Given the description of an element on the screen output the (x, y) to click on. 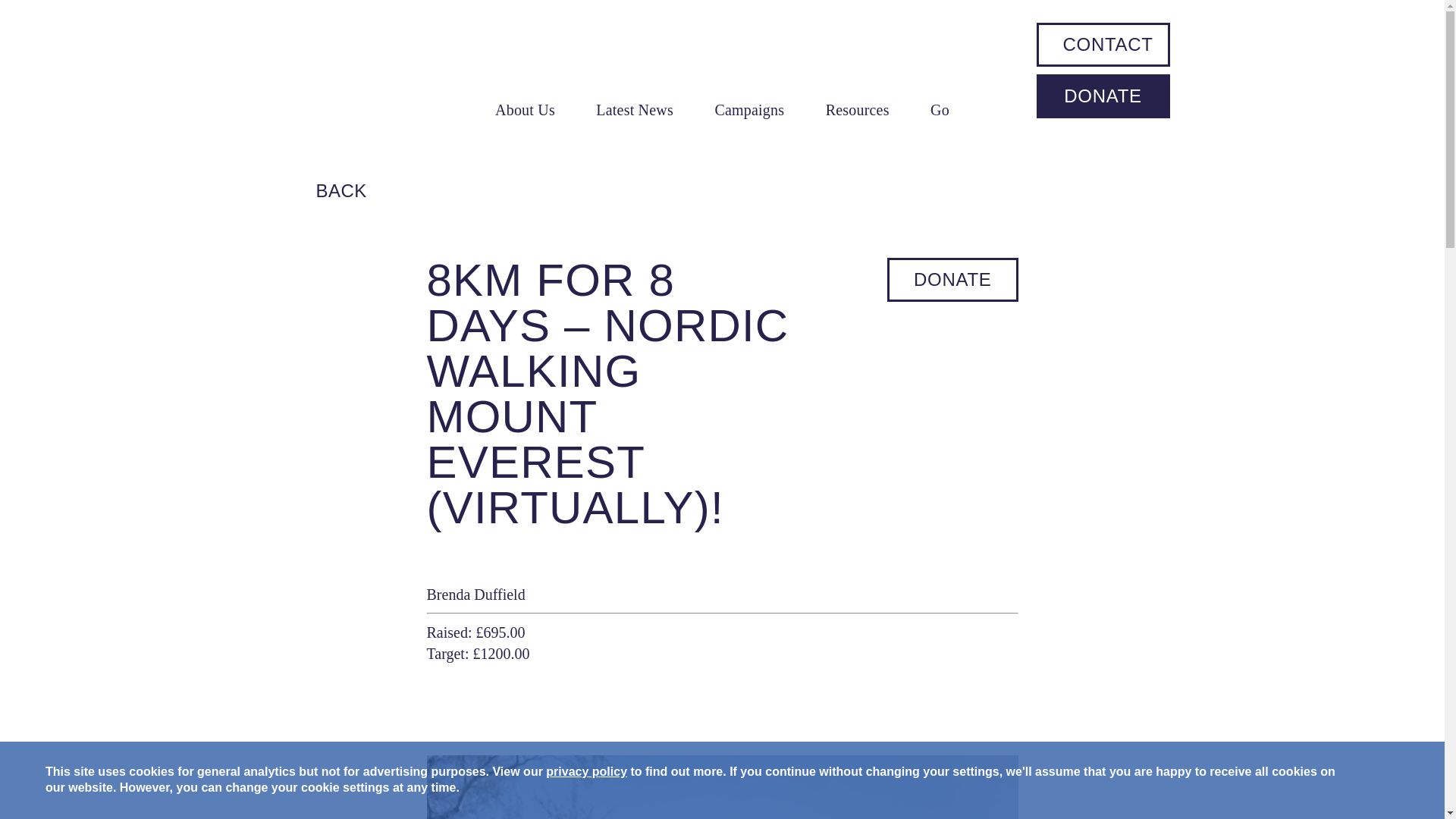
Go (939, 109)
Resources (857, 109)
About Us (524, 109)
Asialink (346, 68)
DONATE (1102, 95)
CONTACT (1107, 44)
Latest News (633, 109)
DONATE (951, 279)
BACK (320, 190)
Campaigns (749, 109)
